Given the description of an element on the screen output the (x, y) to click on. 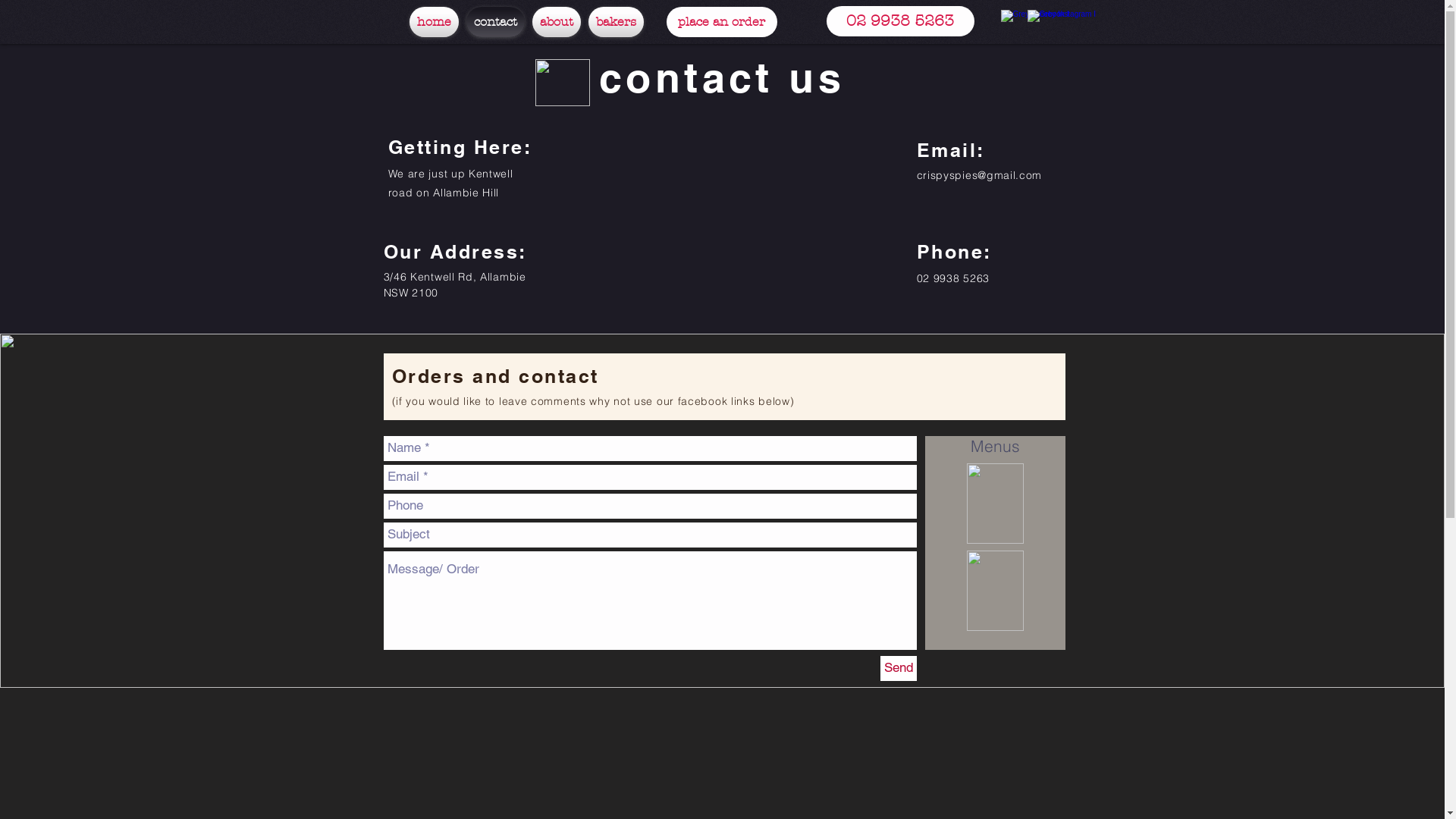
Facebook Like Element type: hover (378, 726)
contact Element type: text (495, 21)
crispyspies@gmail.com Element type: text (978, 175)
home Element type: text (435, 21)
place an order Element type: text (720, 21)
bakers Element type: text (614, 21)
02 9938 5263 Element type: text (900, 21)
Google Maps Element type: hover (726, 217)
about Element type: text (555, 21)
Send Element type: text (897, 667)
